Given the description of an element on the screen output the (x, y) to click on. 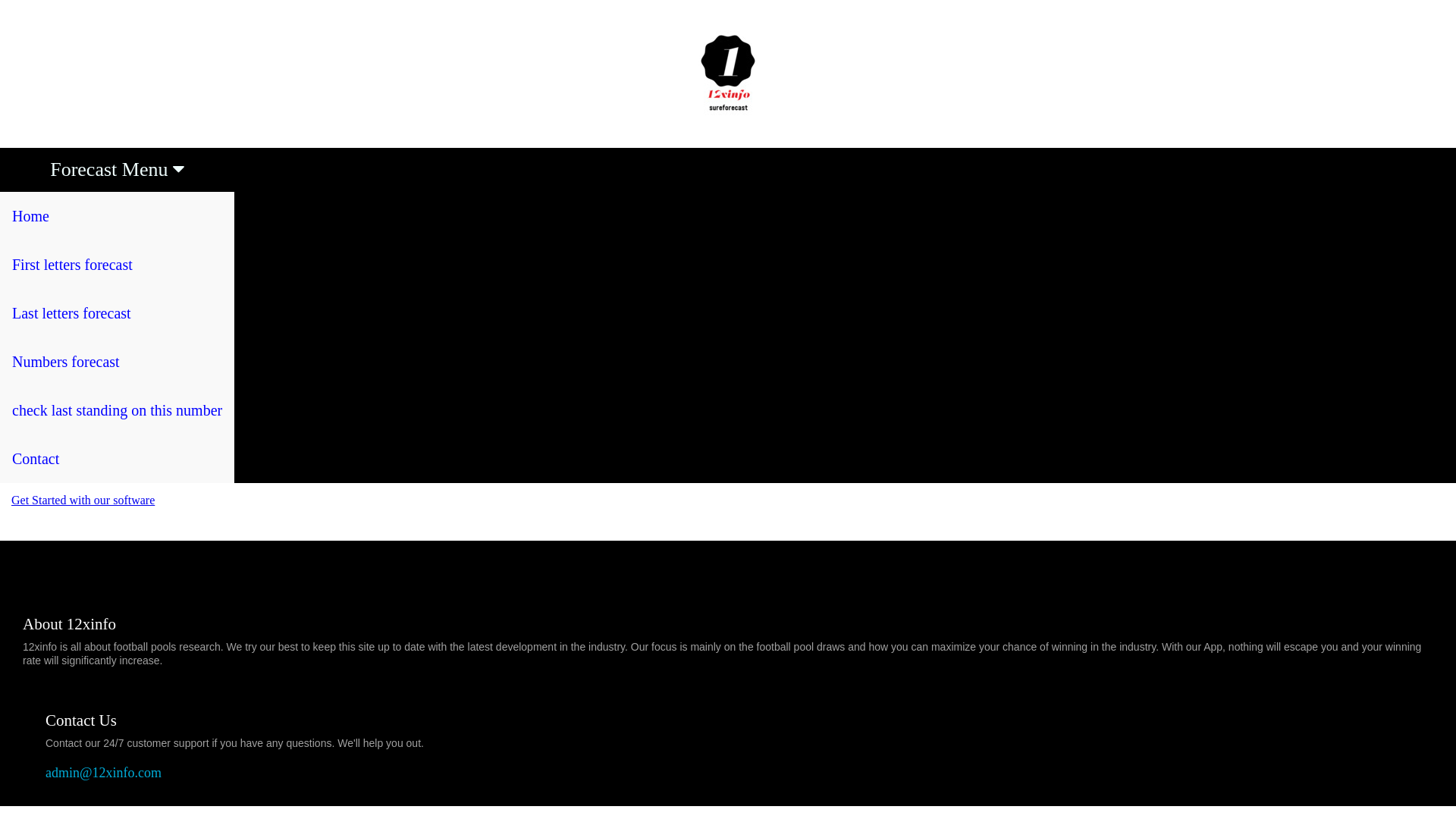
admin@12xinfo.com Element type: text (103, 772)
Last letters forecast Element type: text (117, 312)
First letters forecast Element type: text (117, 264)
Forecast Menu Element type: text (116, 169)
Contact Element type: text (117, 458)
Home Element type: text (117, 215)
check last standing on this number Element type: text (117, 409)
Numbers forecast Element type: text (117, 361)
Get Started with our software Element type: text (82, 499)
